Given the description of an element on the screen output the (x, y) to click on. 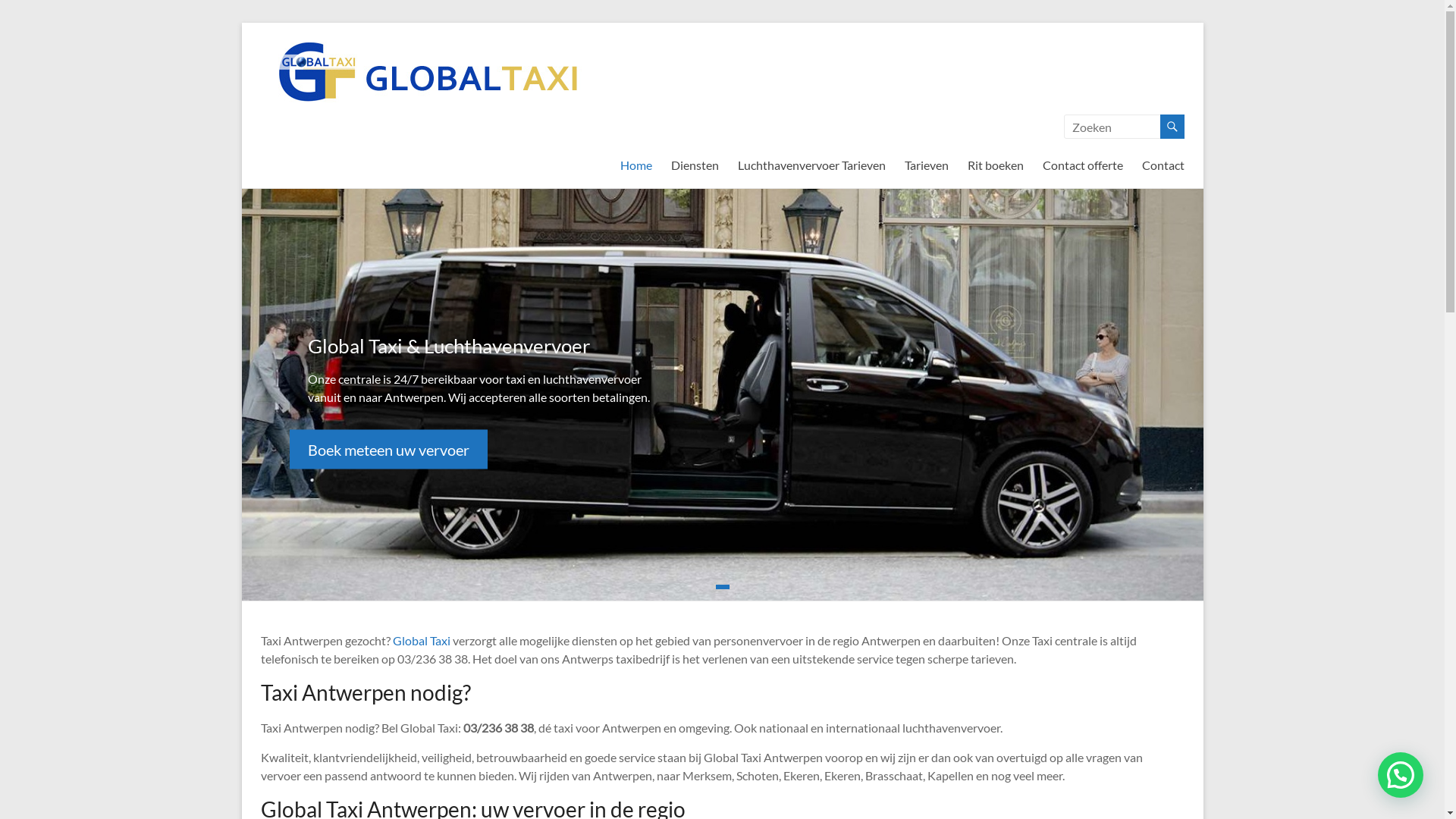
Contact offerte Element type: text (1081, 164)
Diensten Element type: text (694, 164)
Home Element type: text (636, 164)
Global Taxi & Luchthavenvervoer Element type: text (448, 344)
Boek meteen uw vervoer Element type: text (388, 448)
Global Taxi Element type: text (297, 68)
Contact Element type: text (1163, 164)
Luchthavenvervoer Tarieven Element type: text (810, 164)
Ga naar inhoud Element type: text (241, 21)
Global Taxi Element type: text (421, 640)
Rit boeken Element type: text (995, 164)
Tarieven Element type: text (925, 164)
